Given the description of an element on the screen output the (x, y) to click on. 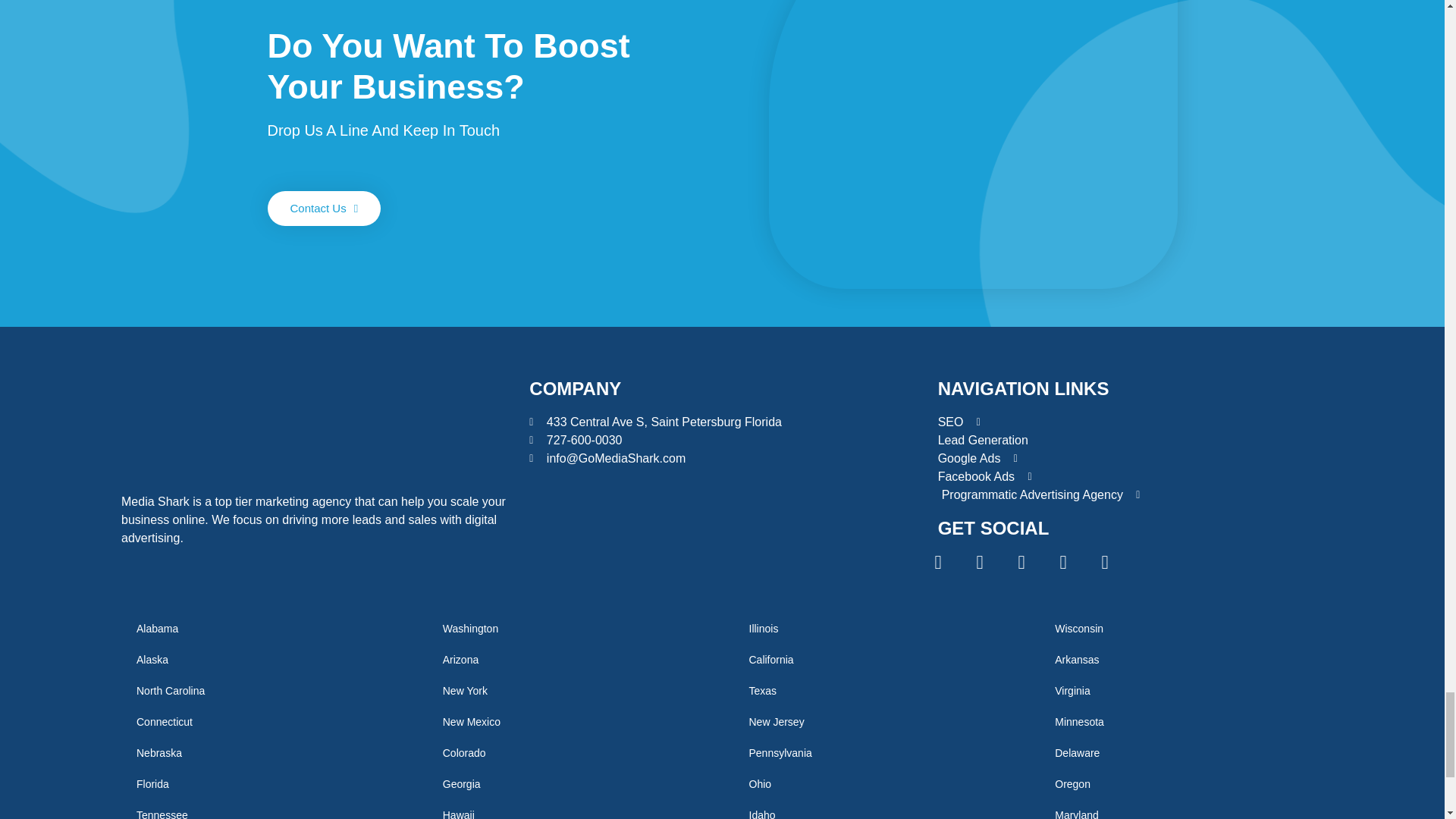
Contact Us (323, 208)
Lead Generation (1130, 439)
Programmatic Advertising Agency (1130, 494)
